Given the description of an element on the screen output the (x, y) to click on. 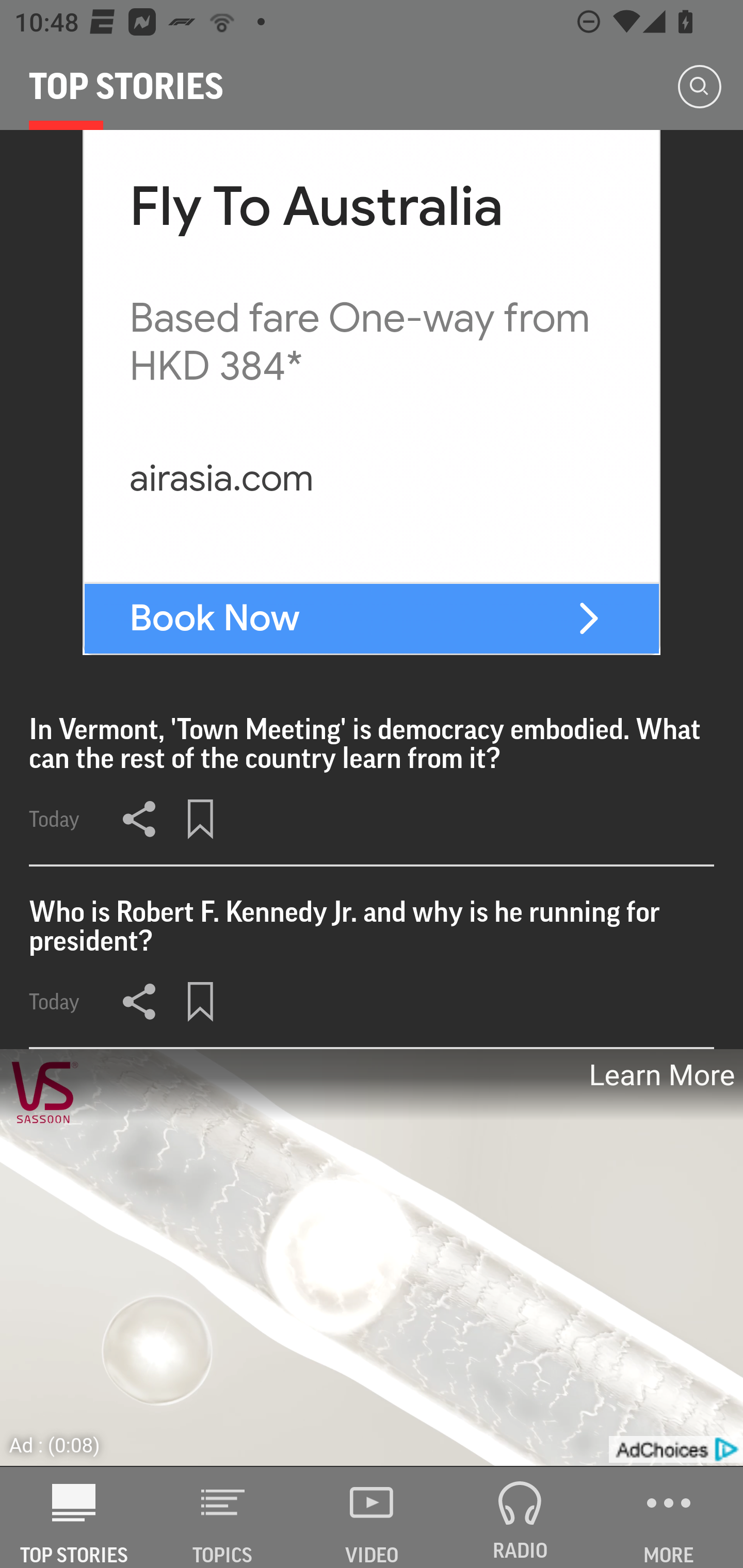
Fly To Australia (317, 206)
airasia.com (221, 477)
%3Ffrom%3DHKG (588, 618)
Book Now (214, 618)
Learn More Ad : (0:08) get?name=admarker-full-tl (371, 1257)
Learn More (660, 1074)
Ad : (0:08) (54, 1444)
get?name=admarker-full-tl (675, 1449)
AP News TOP STORIES (74, 1517)
TOPICS (222, 1517)
VIDEO (371, 1517)
RADIO (519, 1517)
MORE (668, 1517)
